Given the description of an element on the screen output the (x, y) to click on. 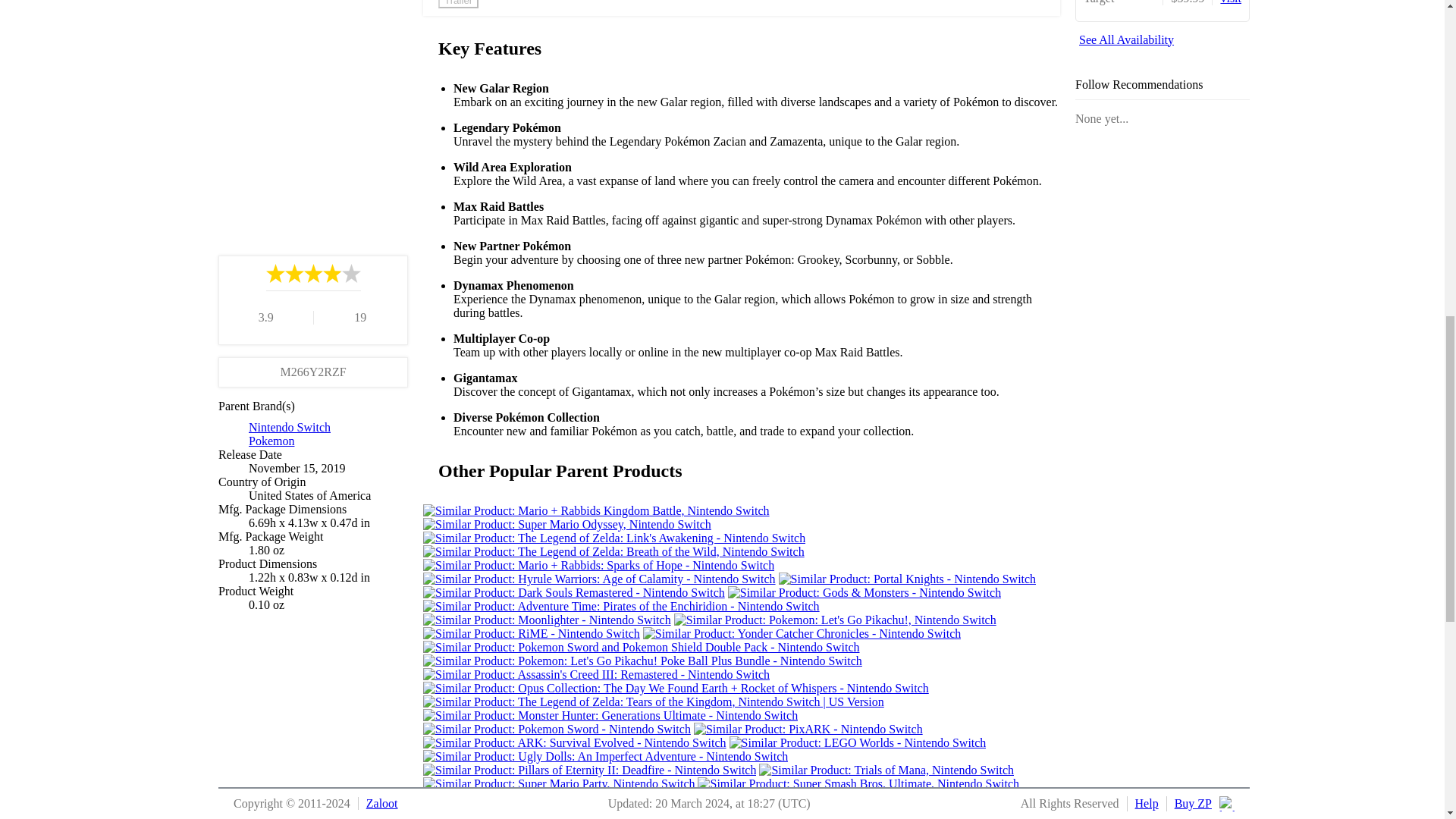
Nintendo Switch (289, 426)
Pokemon (271, 440)
Trailer (458, 4)
